Given the description of an element on the screen output the (x, y) to click on. 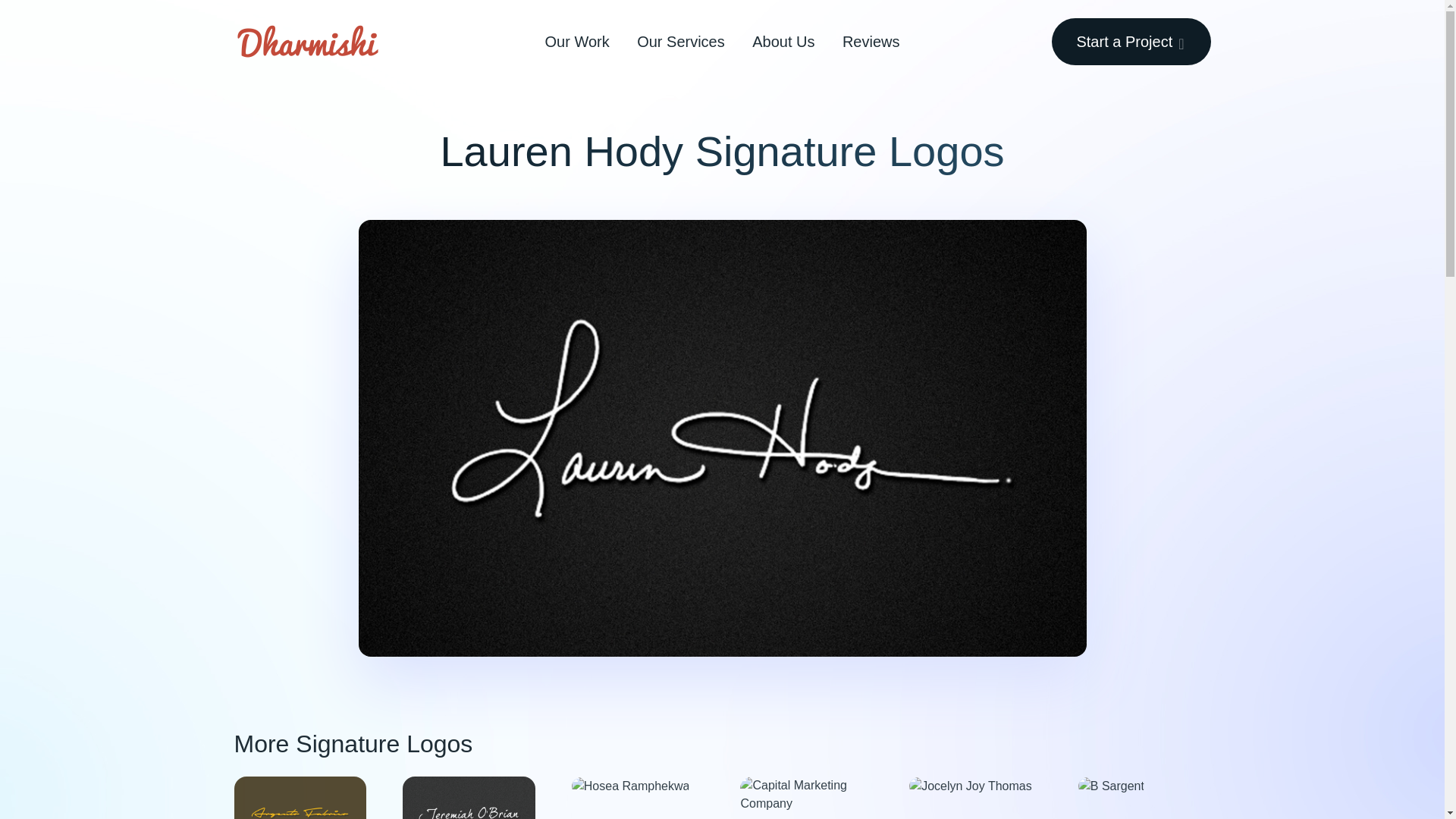
Start a Project (1130, 41)
Reviews (871, 41)
Our Work (576, 41)
Our Services (681, 41)
About Us (782, 41)
